Given the description of an element on the screen output the (x, y) to click on. 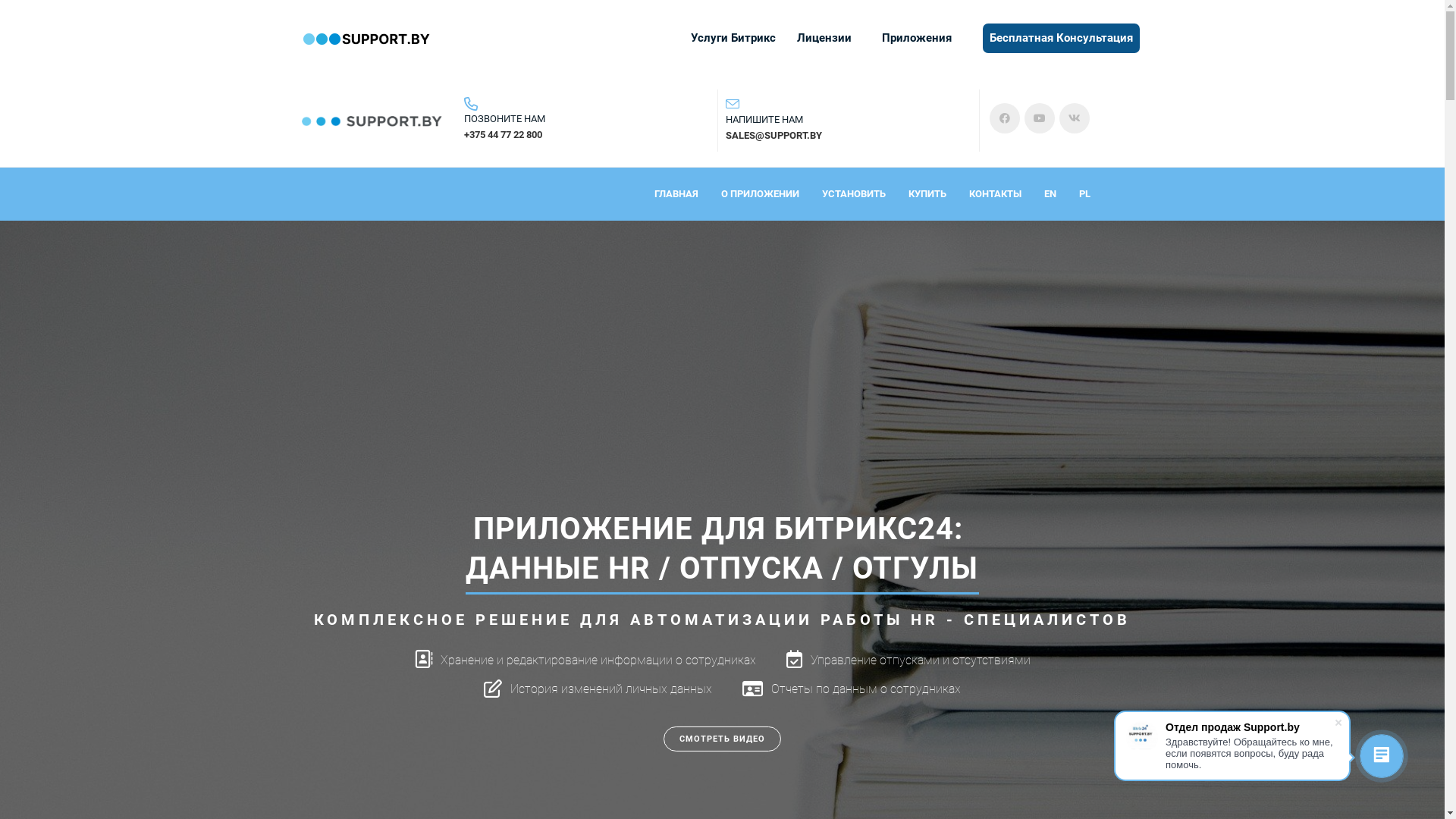
PL Element type: text (1084, 194)
EN Element type: text (1050, 194)
